Given the description of an element on the screen output the (x, y) to click on. 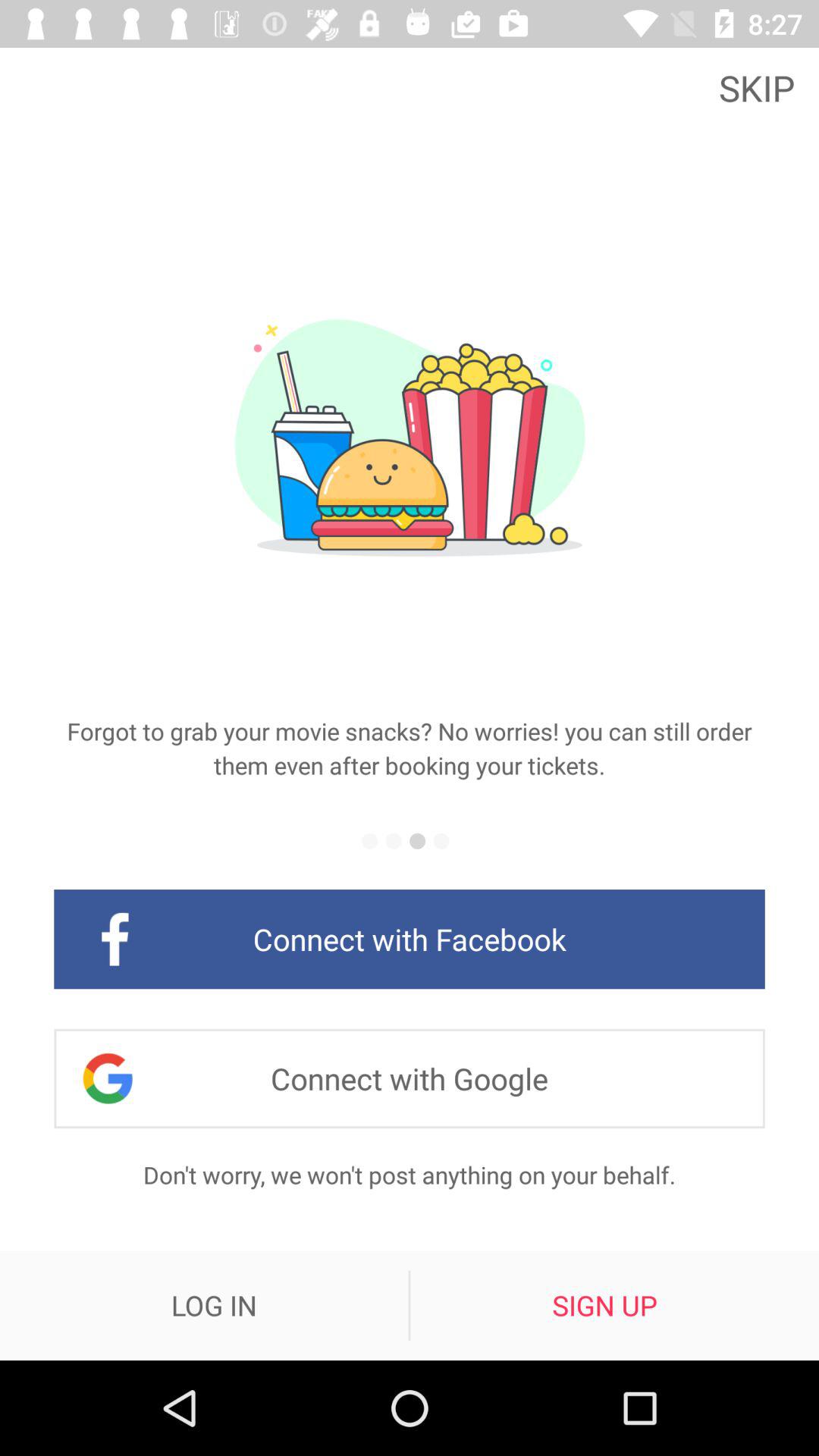
flip to skip (760, 87)
